Given the description of an element on the screen output the (x, y) to click on. 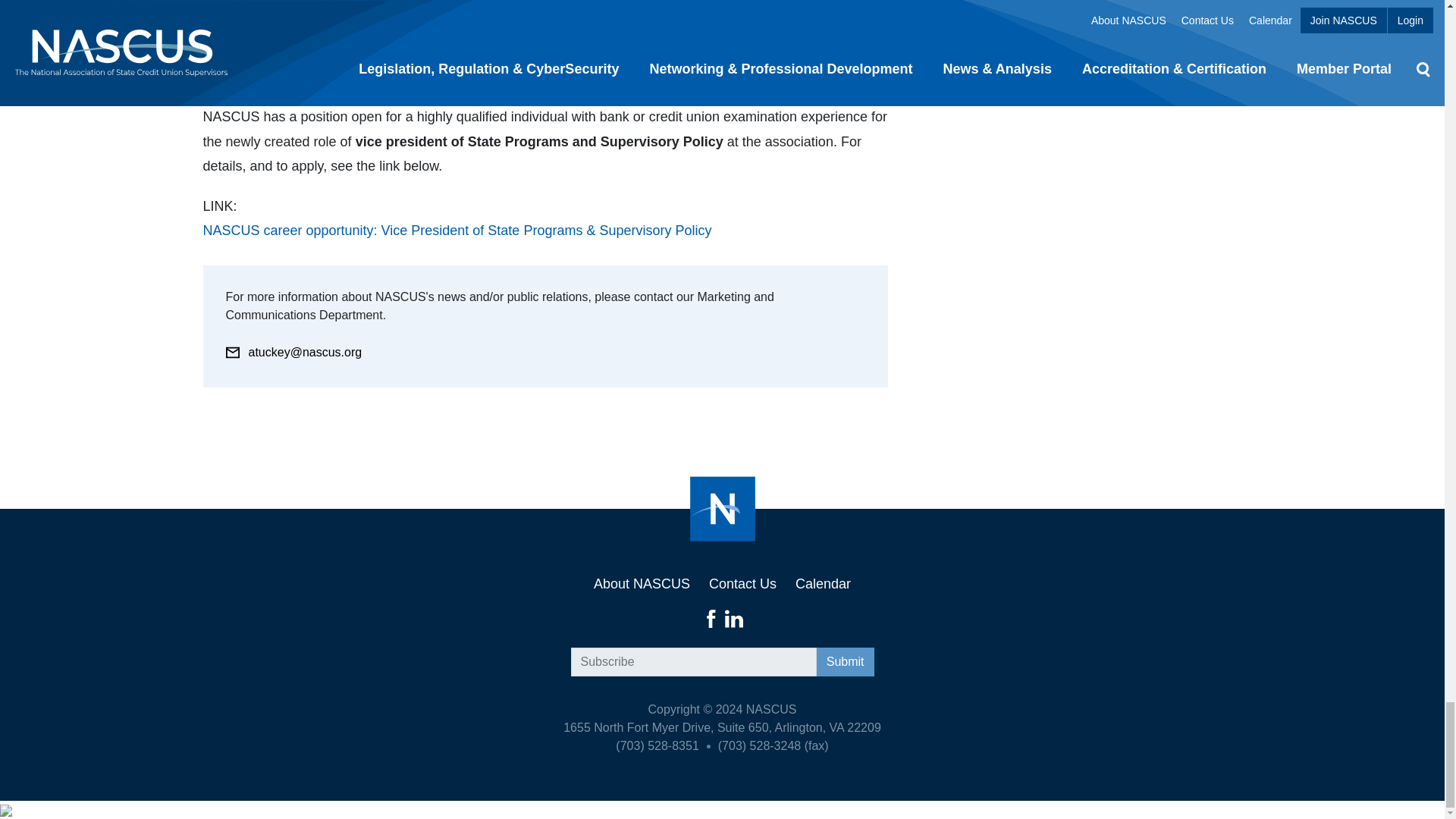
Submit (845, 661)
